Given the description of an element on the screen output the (x, y) to click on. 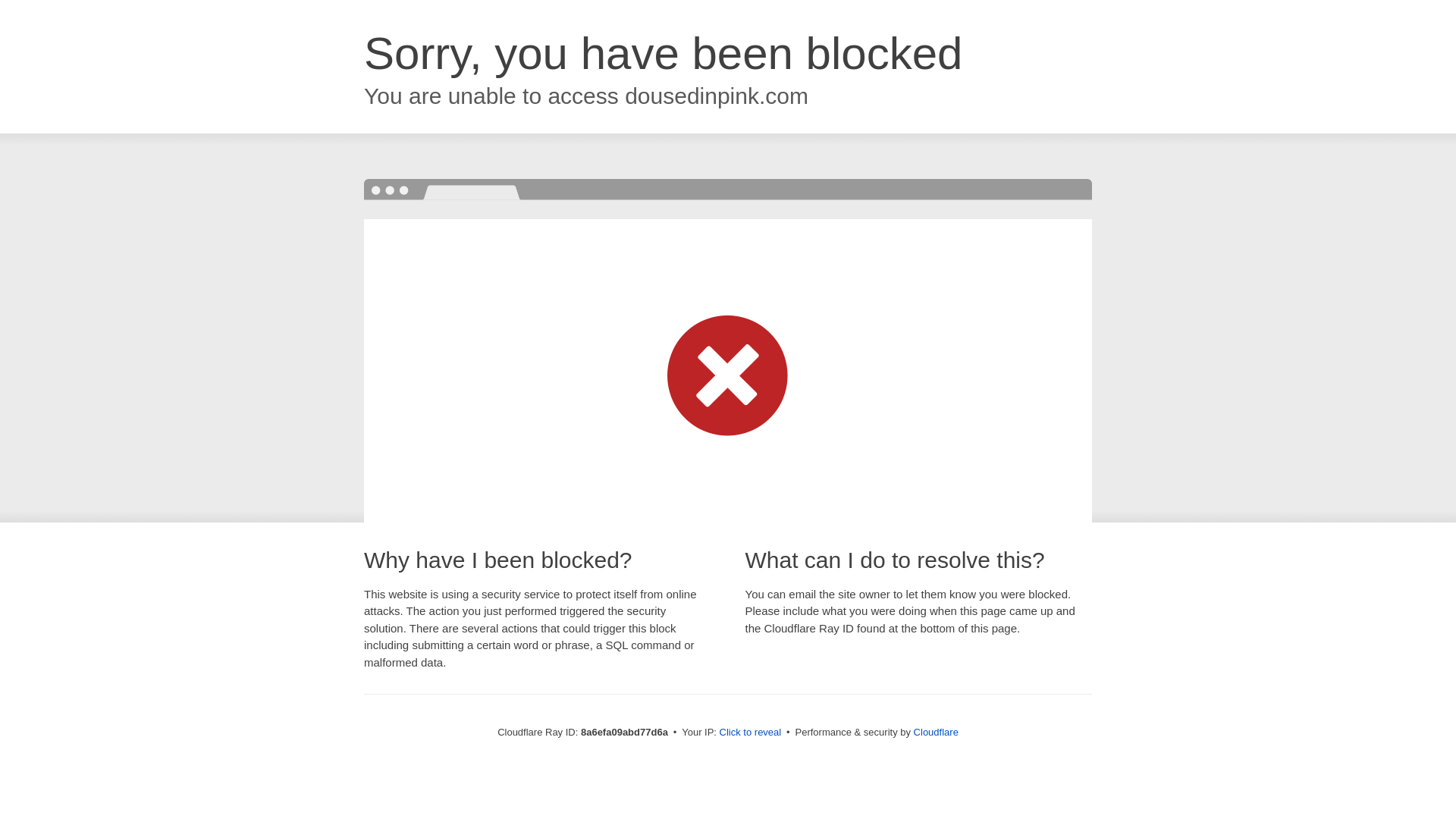
Click to reveal (750, 732)
Cloudflare (936, 731)
